Given the description of an element on the screen output the (x, y) to click on. 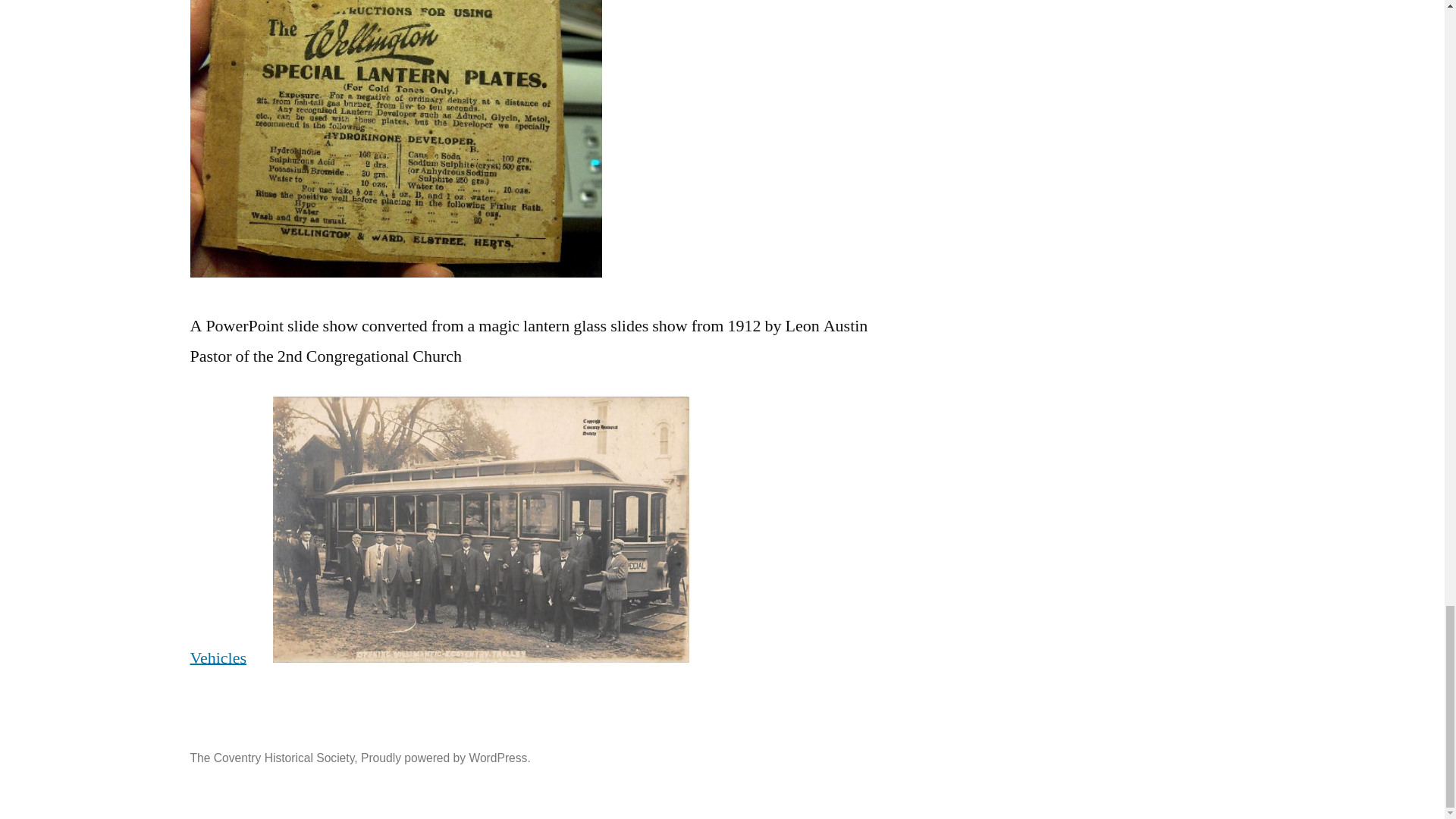
Proudly powered by WordPress. (446, 757)
Vehicles (217, 657)
The Coventry Historical Society (271, 757)
